Given the description of an element on the screen output the (x, y) to click on. 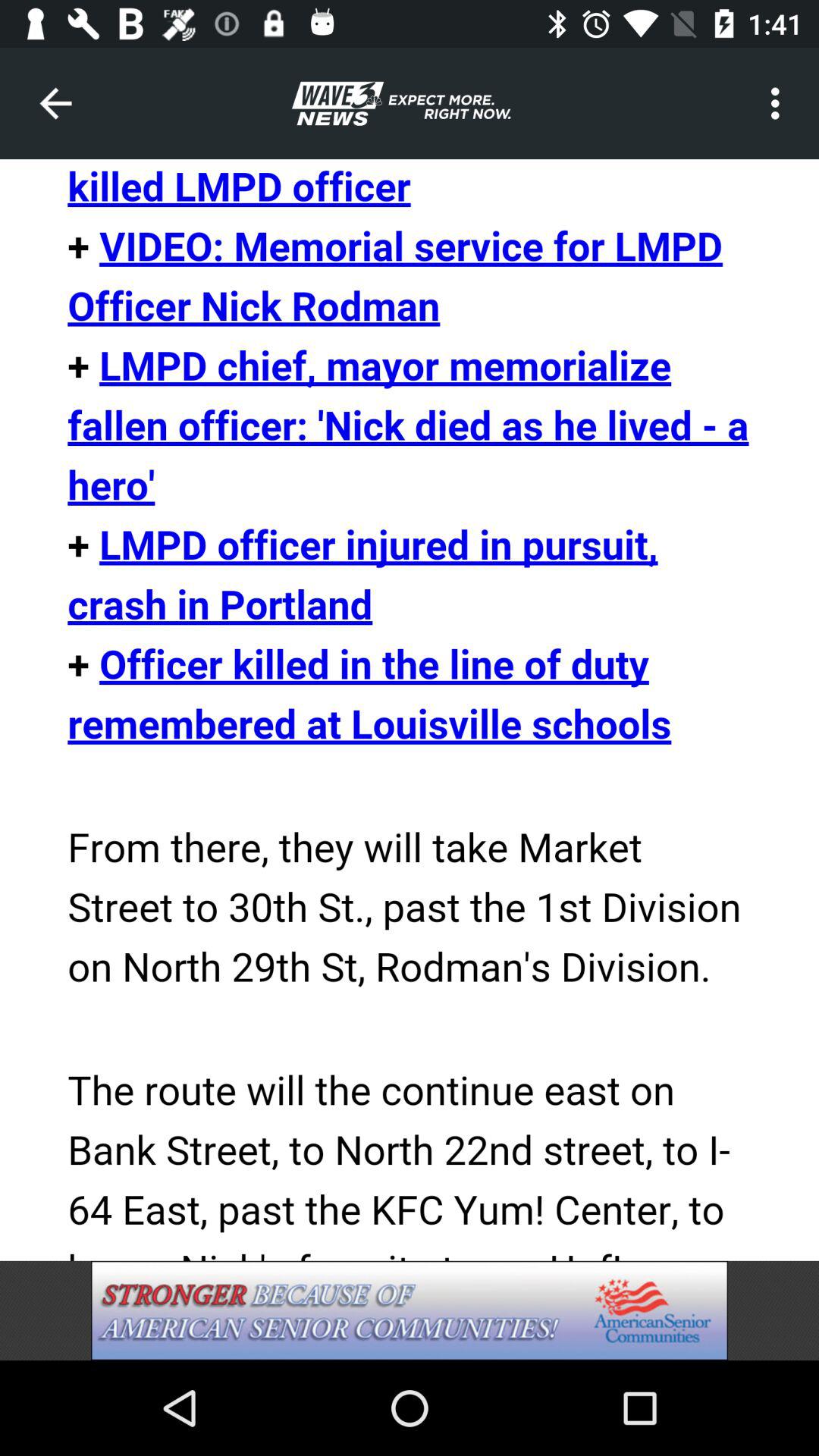
open link (409, 709)
